Given the description of an element on the screen output the (x, y) to click on. 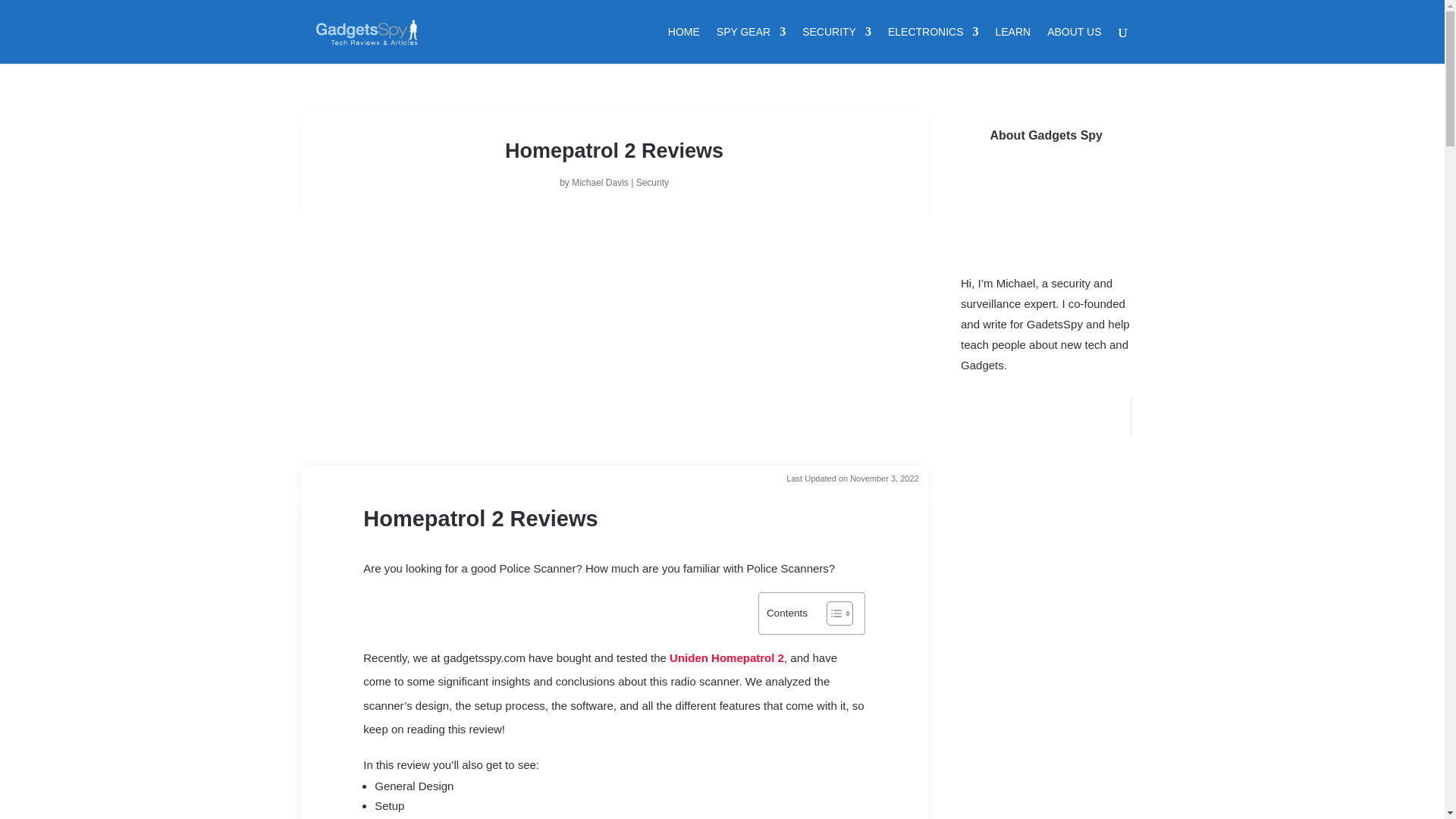
ELECTRONICS (933, 44)
LEARN (1012, 44)
ABOUT US (1073, 44)
SECURITY (836, 44)
SPY GEAR (751, 44)
product review banner (613, 378)
Posts by Michael Davis (600, 182)
mike davis (1046, 210)
